Given the description of an element on the screen output the (x, y) to click on. 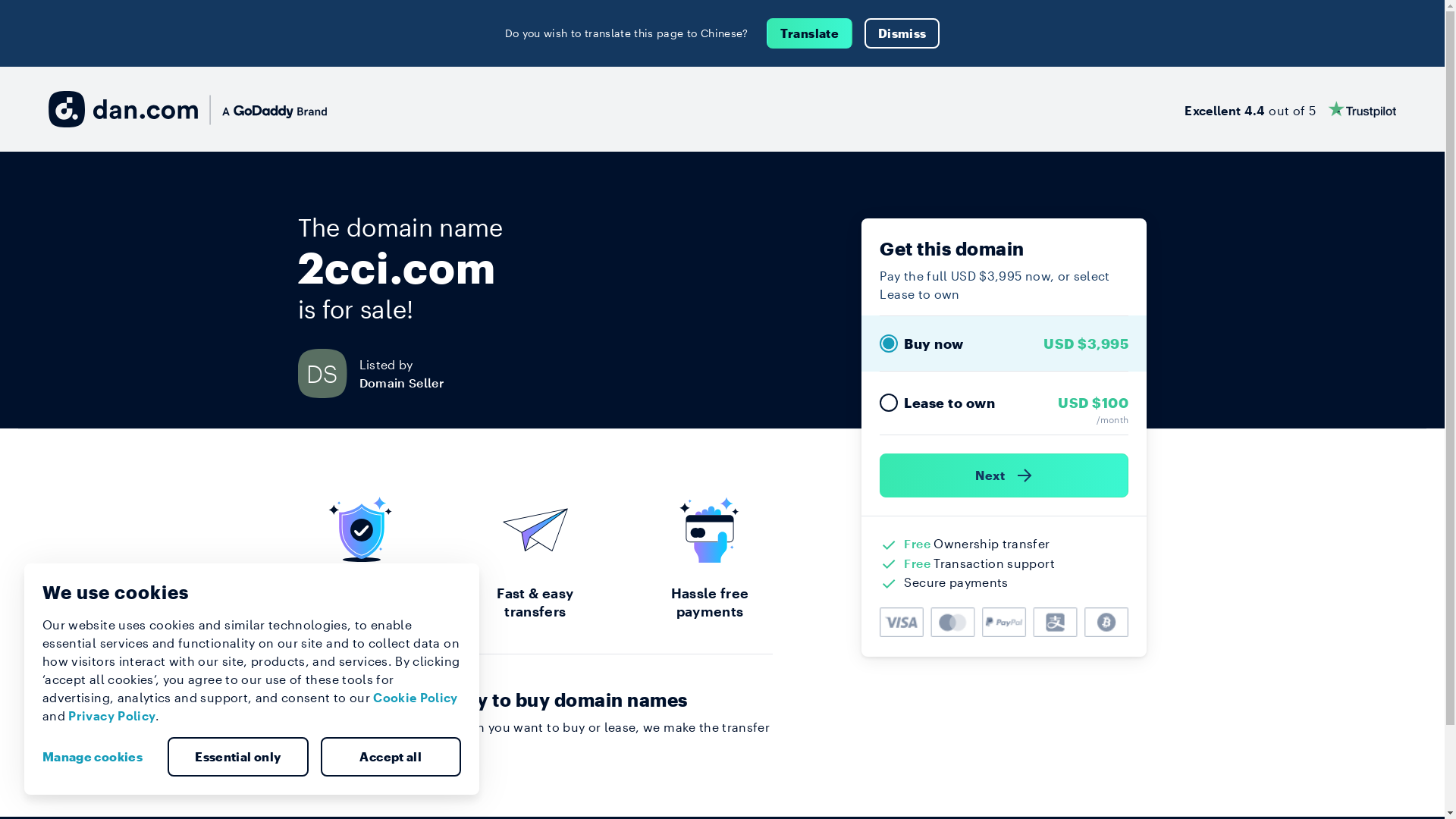
Privacy Policy Element type: text (111, 715)
Accept all Element type: text (390, 756)
Cookie Policy Element type: text (415, 697)
Manage cookies Element type: text (98, 756)
Essential only Element type: text (237, 756)
Dismiss Element type: text (901, 33)
Excellent 4.4 out of 5 Element type: text (1290, 109)
Next
) Element type: text (1003, 475)
Translate Element type: text (809, 33)
